Given the description of an element on the screen output the (x, y) to click on. 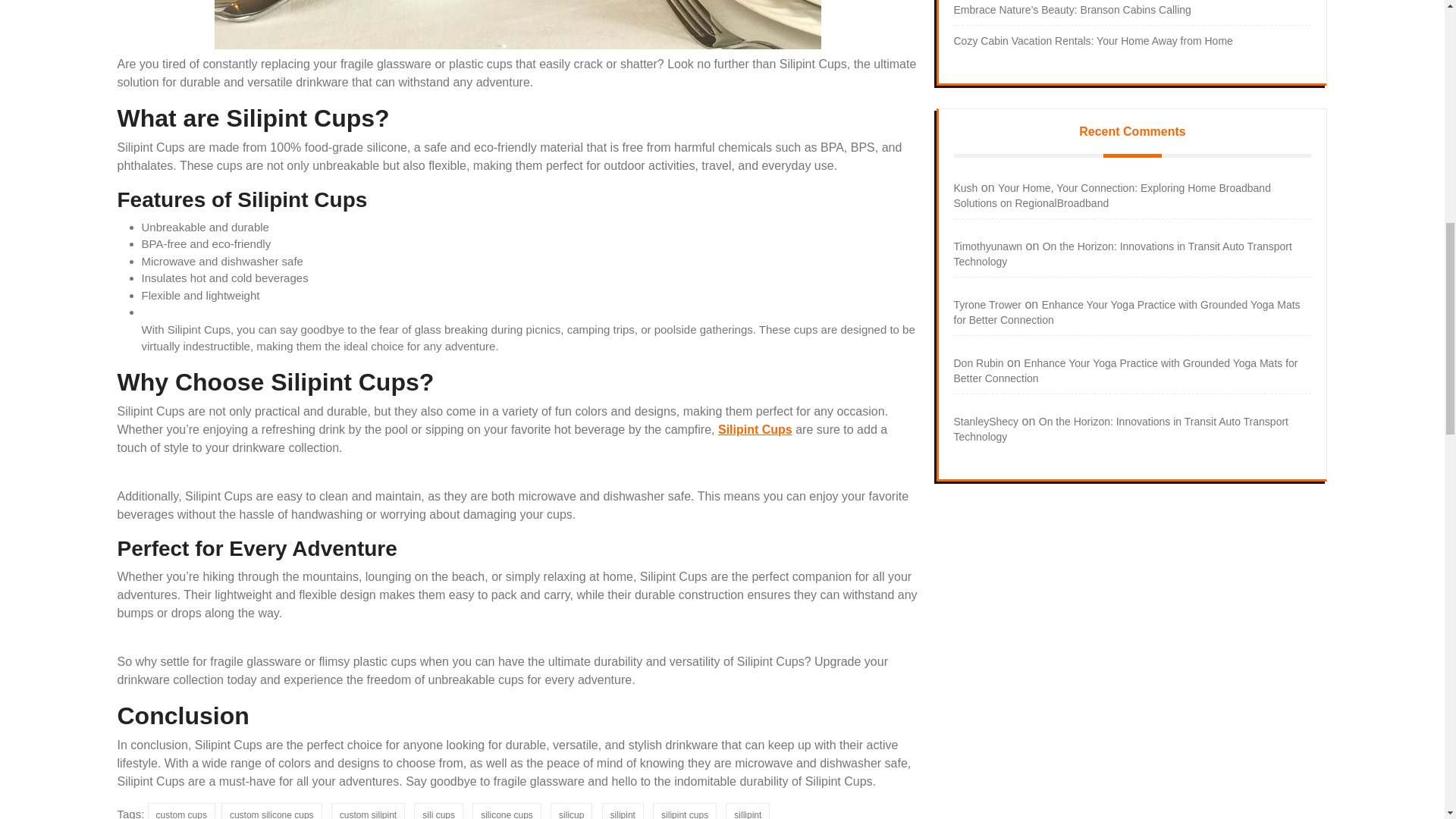
silicone cups (506, 811)
Cozy Cabin Vacation Rentals: Your Home Away from Home (1093, 40)
custom cups (181, 811)
Timothyunawn (988, 246)
sillipint (747, 811)
Kush (965, 187)
silicup (571, 811)
